Given the description of an element on the screen output the (x, y) to click on. 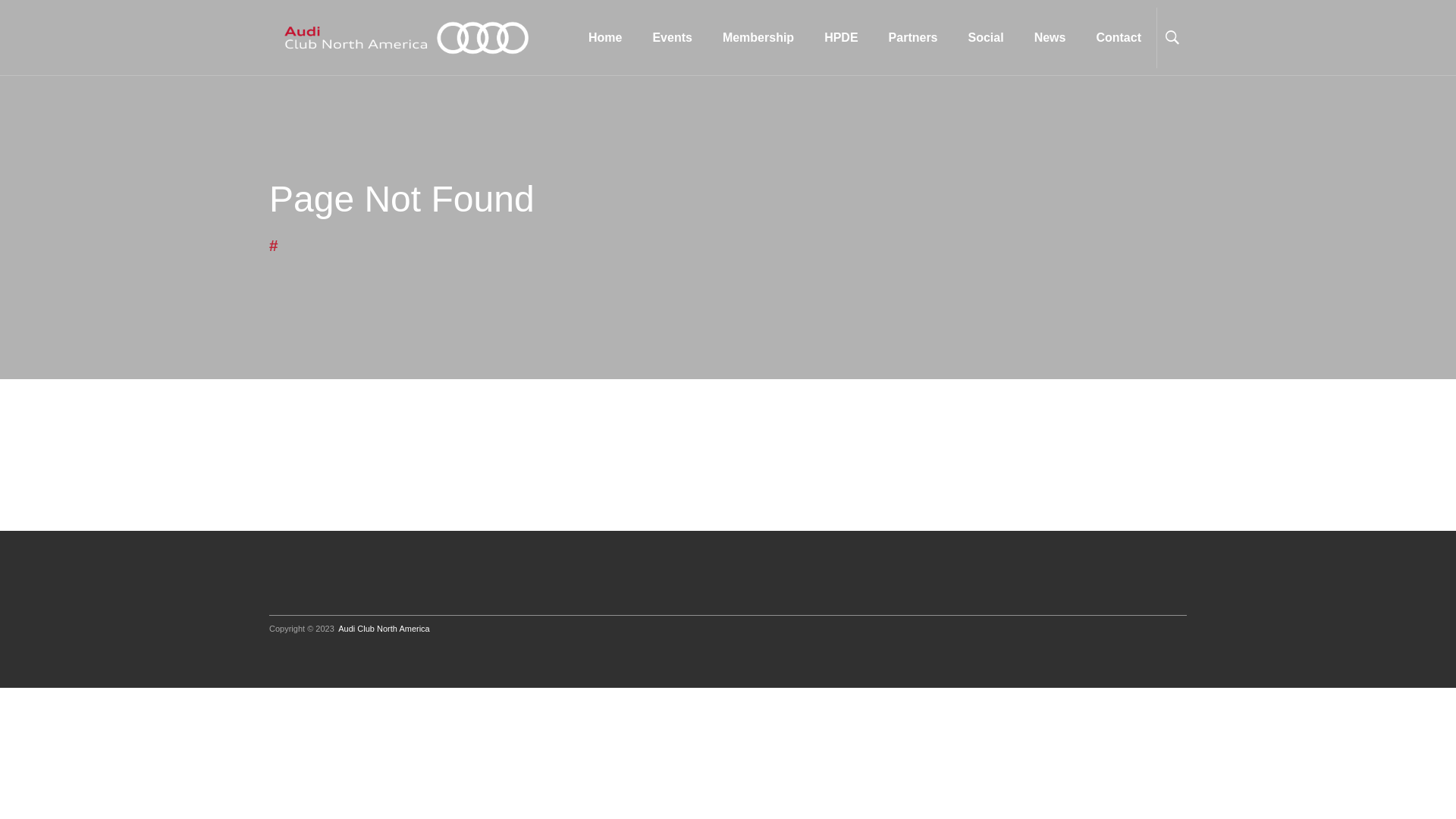
Home Element type: text (605, 37)
Events Element type: text (671, 37)
News Element type: text (1050, 37)
Membership Element type: text (758, 37)
HPDE Element type: text (840, 37)
Audi Club North America Element type: text (383, 628)
Social Element type: text (985, 37)
Partners Element type: text (913, 37)
Search Element type: text (1191, 98)
Contact Element type: text (1118, 37)
